Given the description of an element on the screen output the (x, y) to click on. 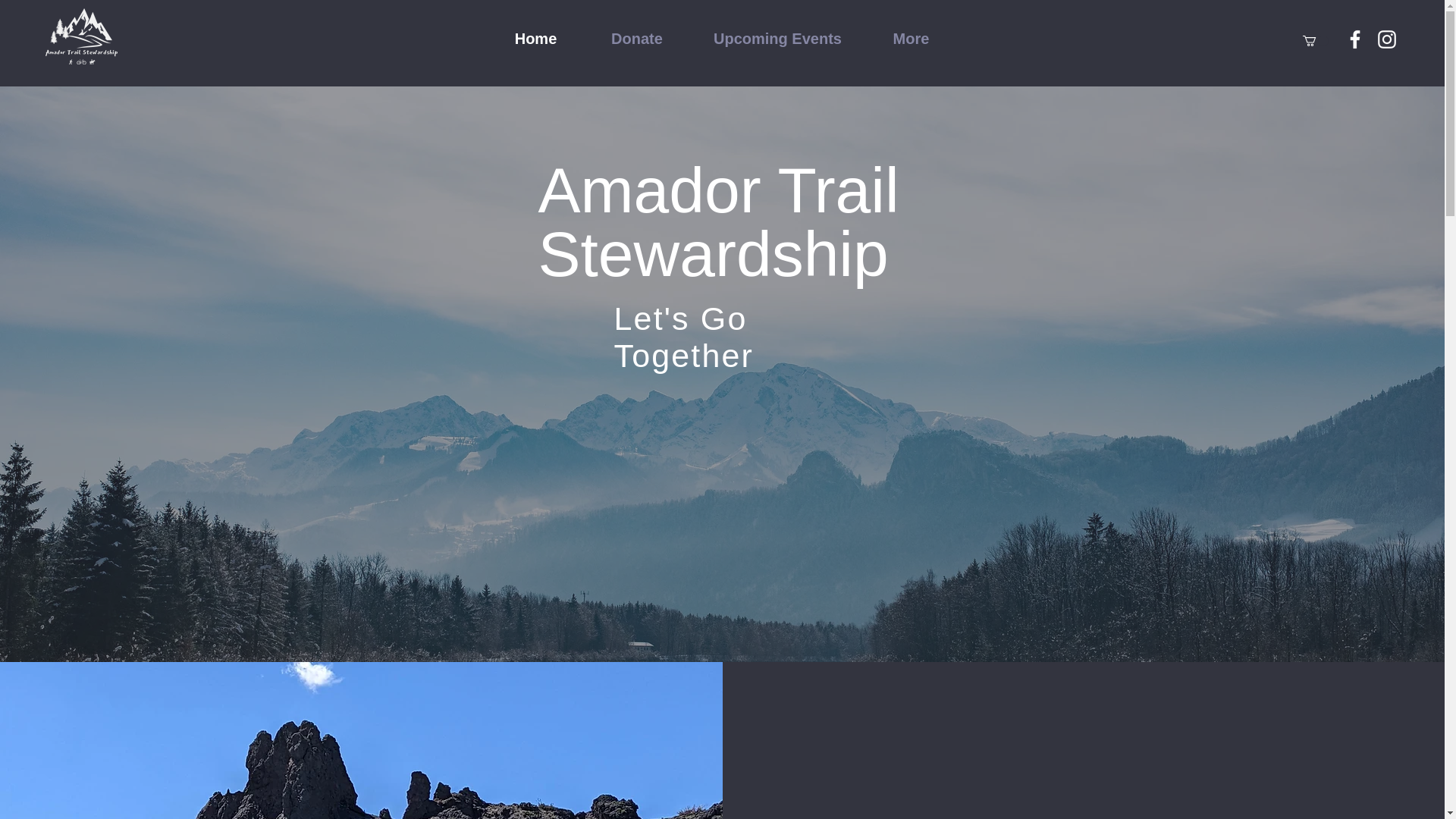
Donate (635, 39)
Upcoming Events (778, 39)
Home (534, 39)
